Given the description of an element on the screen output the (x, y) to click on. 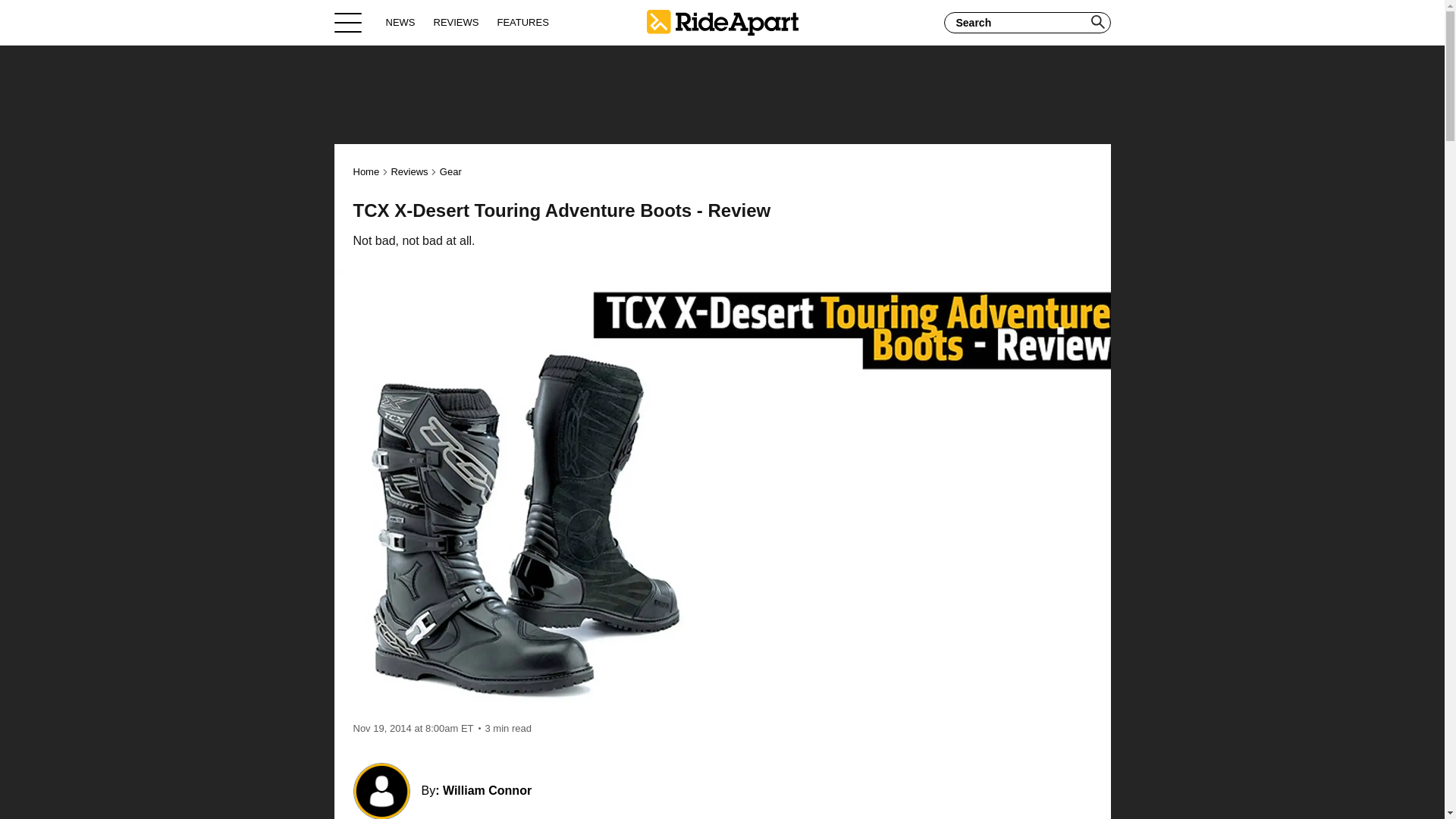
NEWS (399, 22)
Home (366, 171)
Gear (450, 171)
William Connor (486, 789)
REVIEWS (456, 22)
Home (721, 22)
FEATURES (522, 22)
Reviews (409, 171)
